Given the description of an element on the screen output the (x, y) to click on. 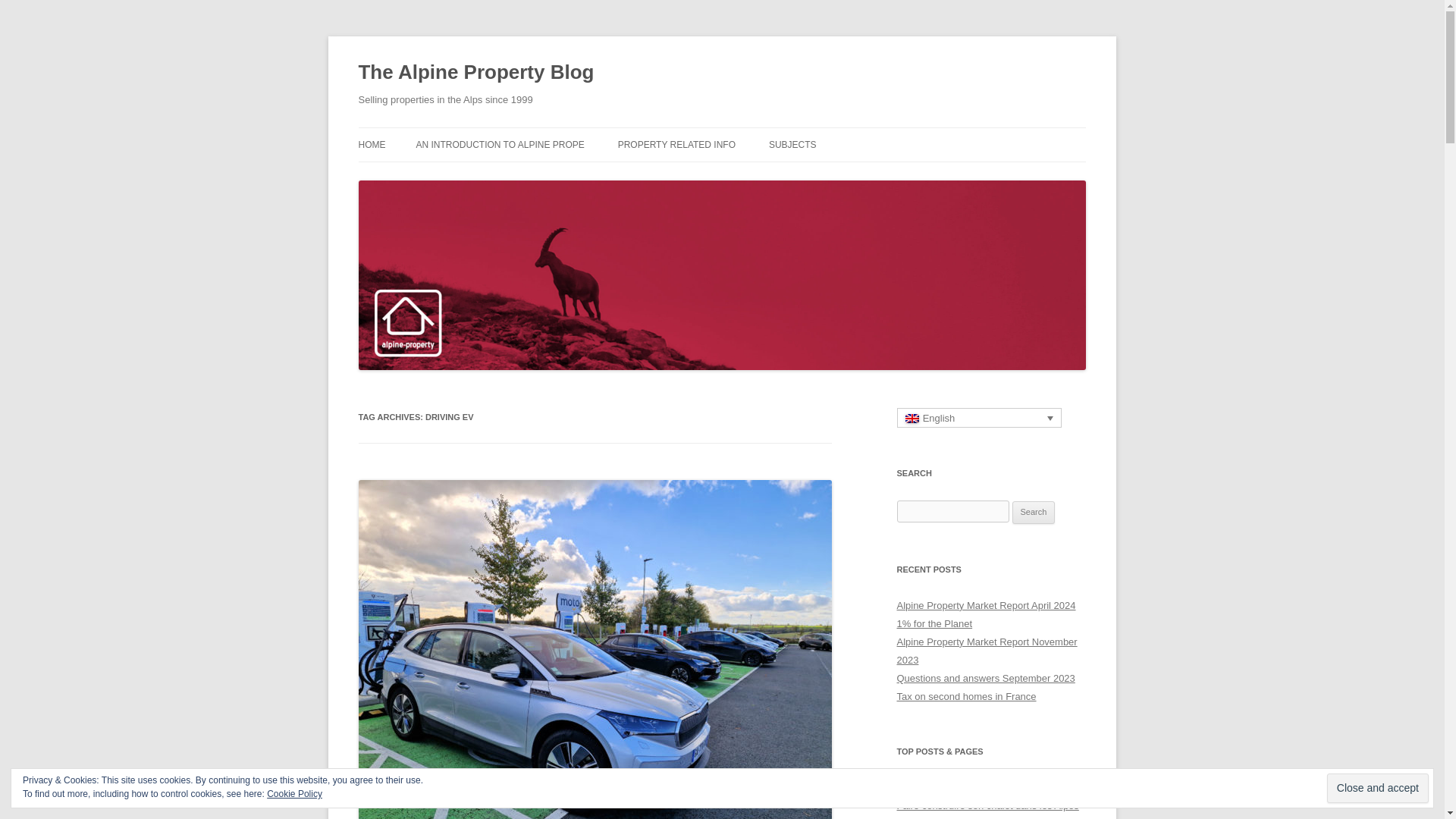
Alpine Property Market Report April 2024 (985, 604)
Close and accept (1377, 788)
Search (1033, 512)
Alpine Property Market Report November 2023 (986, 650)
The Alpine Property Blog (476, 72)
AN INTRODUCTION TO ALPINE PROPE (498, 144)
PROPERTY RELATED INFO (676, 144)
Tax on second homes in France (965, 696)
Alpine Property Market Report April 2024 (985, 787)
